Given the description of an element on the screen output the (x, y) to click on. 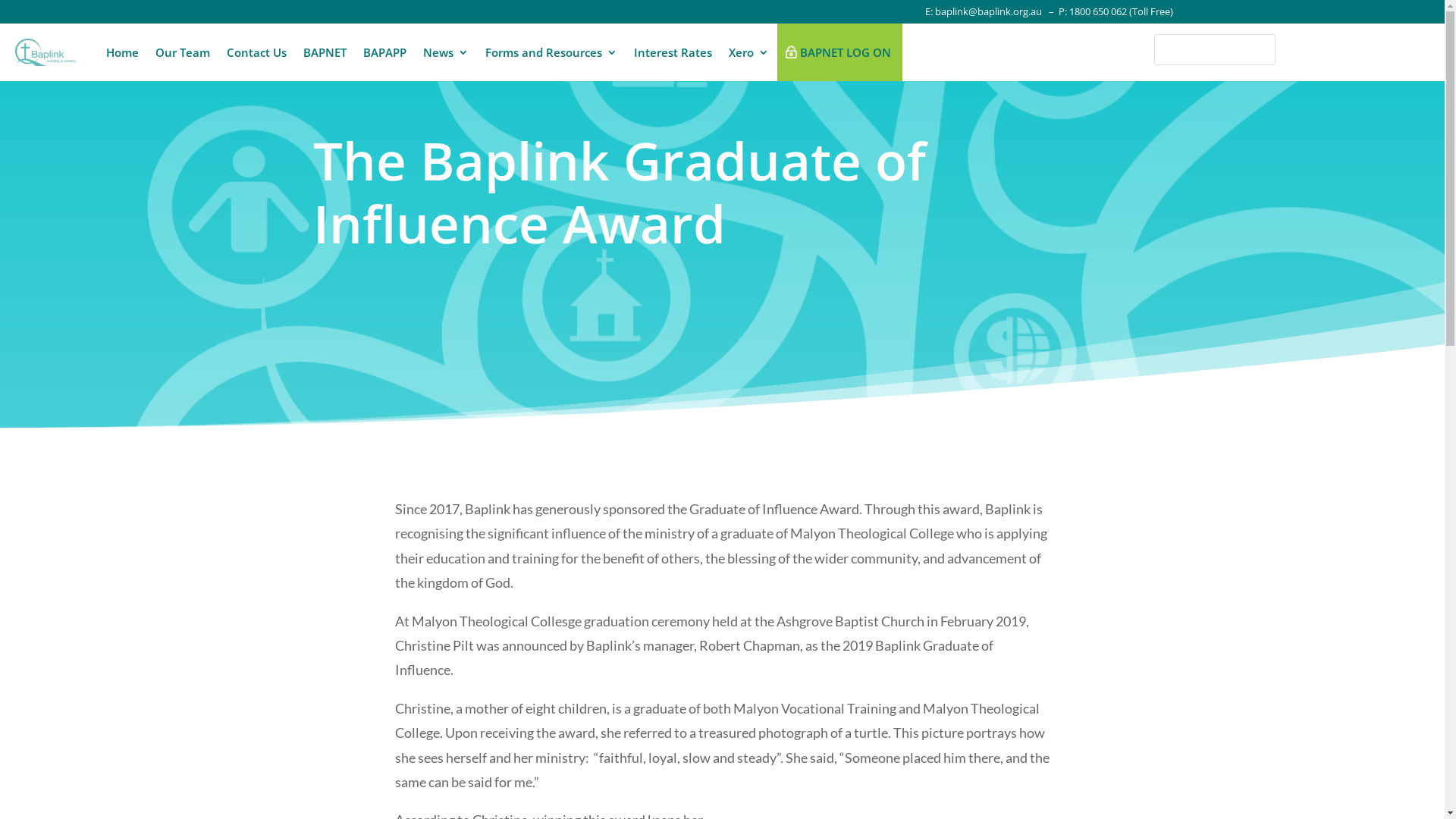
News Element type: text (445, 52)
Search Element type: text (25, 14)
E: baplink@baplink.org.au Element type: text (983, 11)
Interest Rates Element type: text (672, 52)
Home Element type: text (122, 52)
Forms and Resources Element type: text (551, 52)
BAPNET LOG ON Element type: text (839, 52)
Contact Us Element type: text (256, 52)
BAPAPP Element type: text (384, 52)
Xero Element type: text (748, 52)
BAPNET Element type: text (324, 52)
Our Team Element type: text (182, 52)
